Given the description of an element on the screen output the (x, y) to click on. 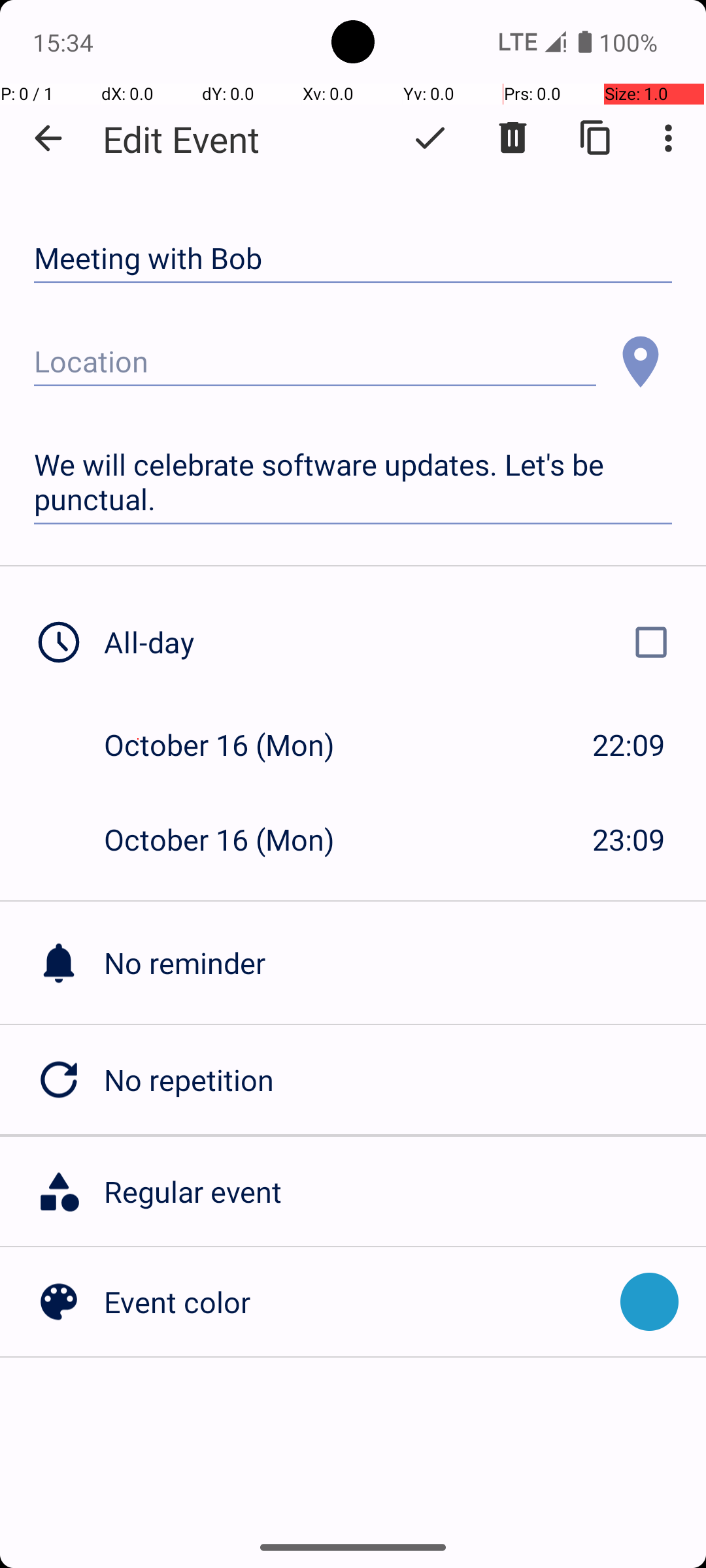
We will celebrate software updates. Let's be punctual. Element type: android.widget.EditText (352, 482)
22:09 Element type: android.widget.TextView (628, 744)
23:09 Element type: android.widget.TextView (628, 838)
